Given the description of an element on the screen output the (x, y) to click on. 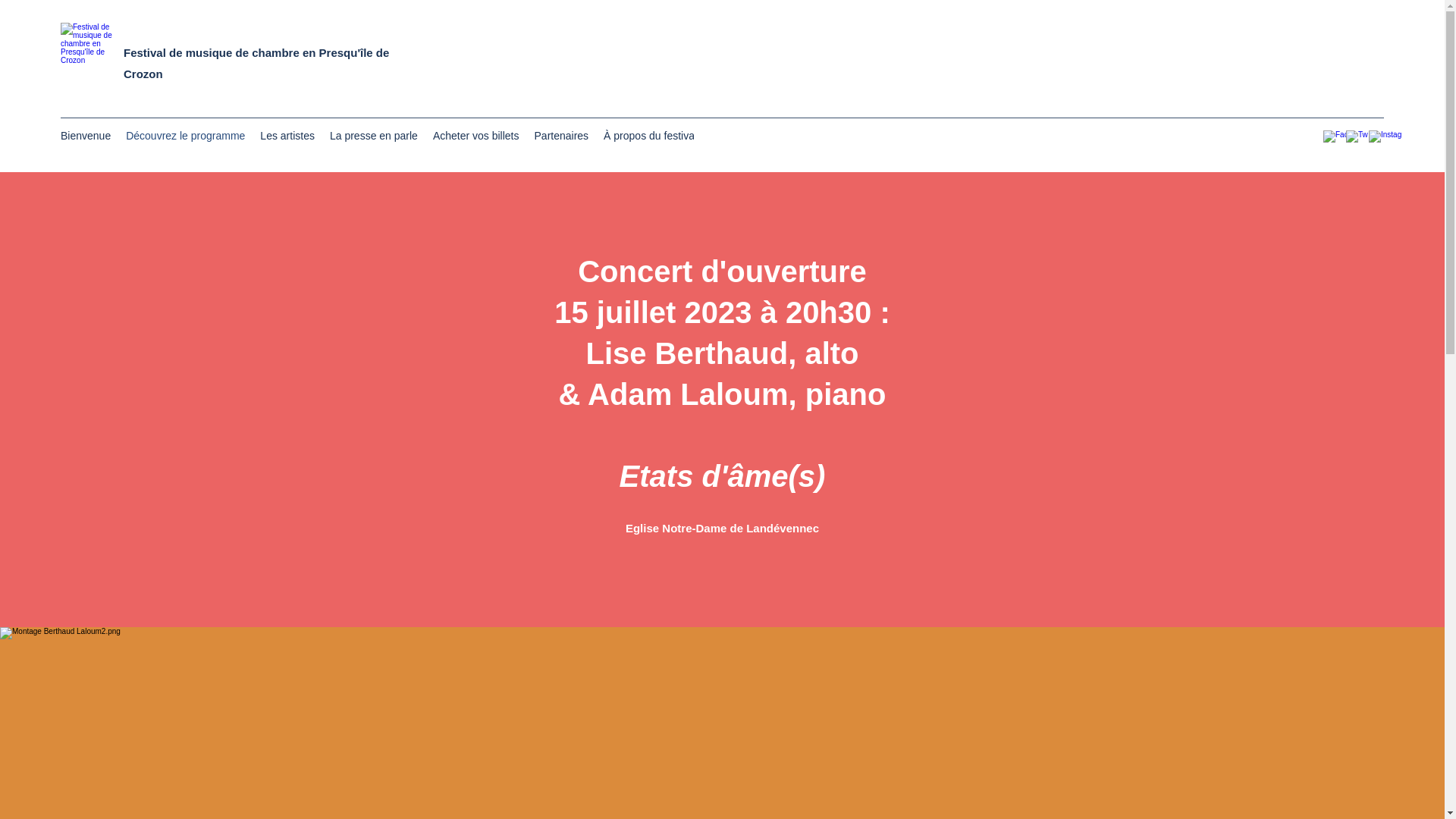
La presse en parle Element type: text (373, 137)
Bienvenue Element type: text (85, 137)
Les artistes Element type: text (287, 137)
Partenaires Element type: text (561, 137)
Acheter vos billets Element type: text (476, 137)
